Given the description of an element on the screen output the (x, y) to click on. 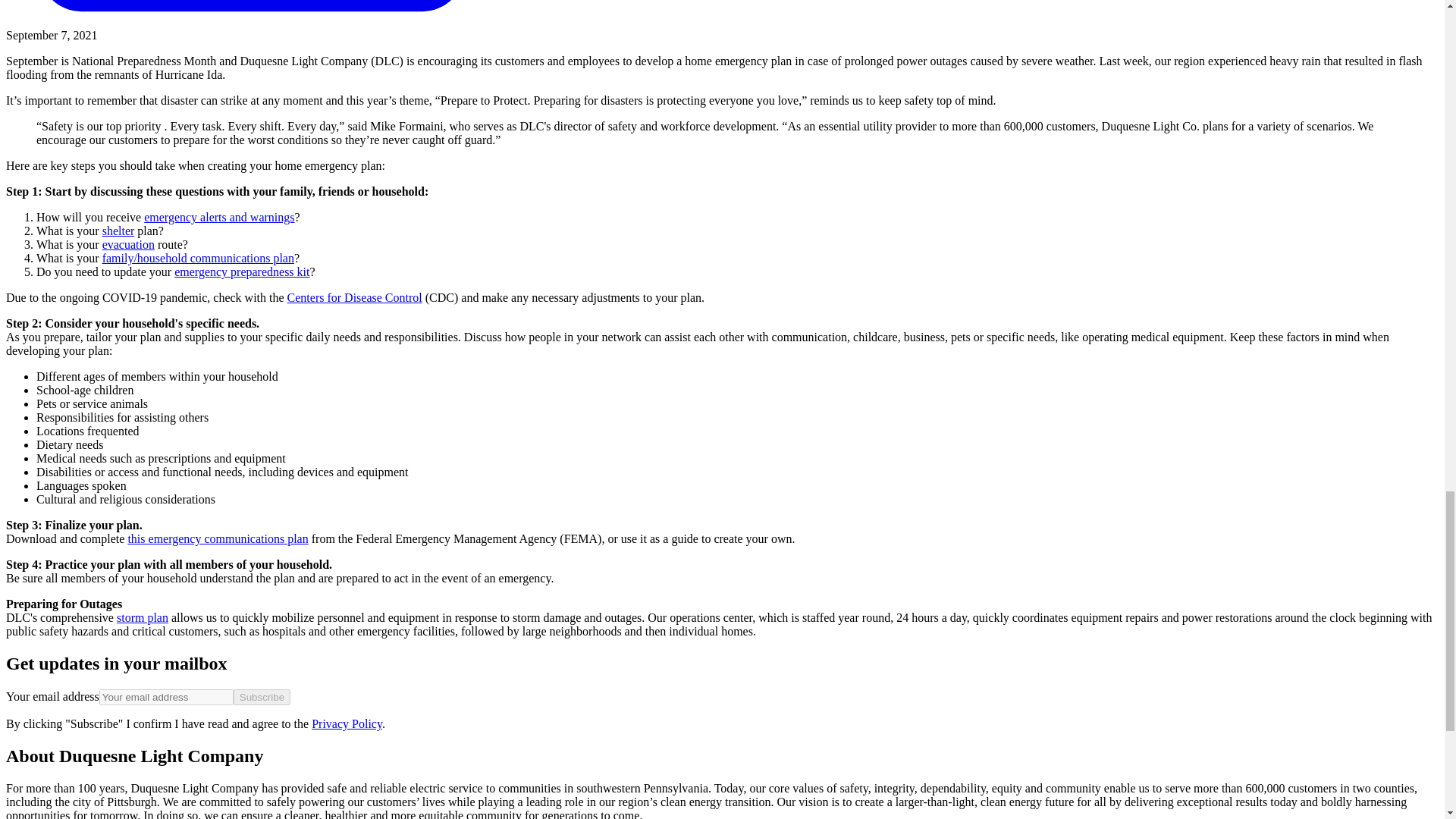
evacuation (127, 244)
emergency alerts and warnings (219, 216)
shelter (118, 230)
Subscribe (260, 697)
this emergency communications plan (217, 538)
Privacy Policy (346, 723)
Centers for Disease Control (354, 297)
storm plan (142, 617)
emergency preparedness kit (241, 271)
